Given the description of an element on the screen output the (x, y) to click on. 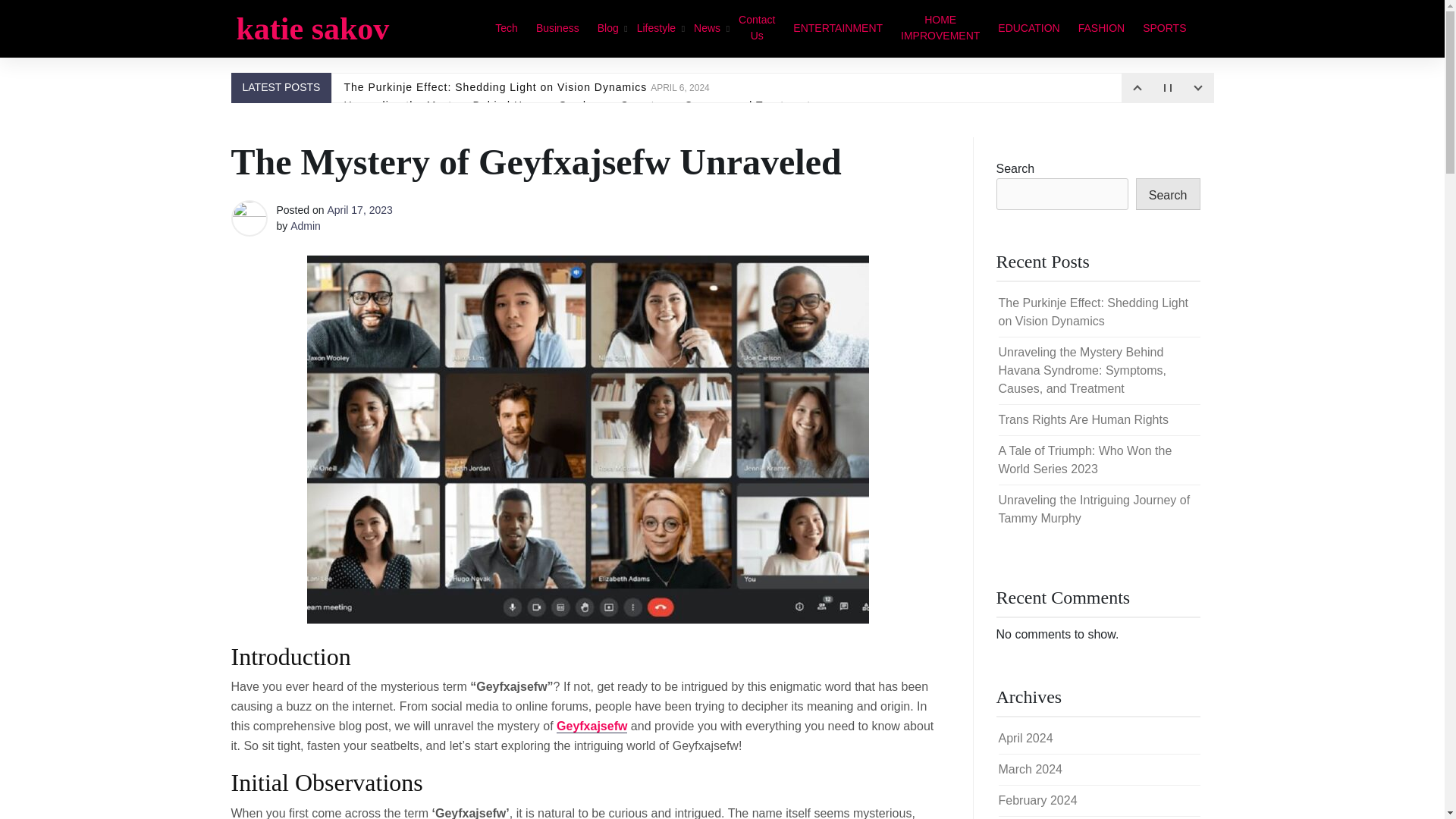
Lifestyle (655, 28)
Contact Us (756, 28)
News (706, 28)
HOME IMPROVEMENT (939, 28)
Business (557, 28)
EDUCATION (1028, 28)
Tech (506, 28)
ENTERTAINMENT (837, 28)
The Purkinje Effect: Shedding Light on Vision Dynamics (1092, 311)
SPORTS (1164, 28)
Geyfxajsefw (591, 726)
Search (1167, 193)
April 17, 2023 (358, 209)
